Given the description of an element on the screen output the (x, y) to click on. 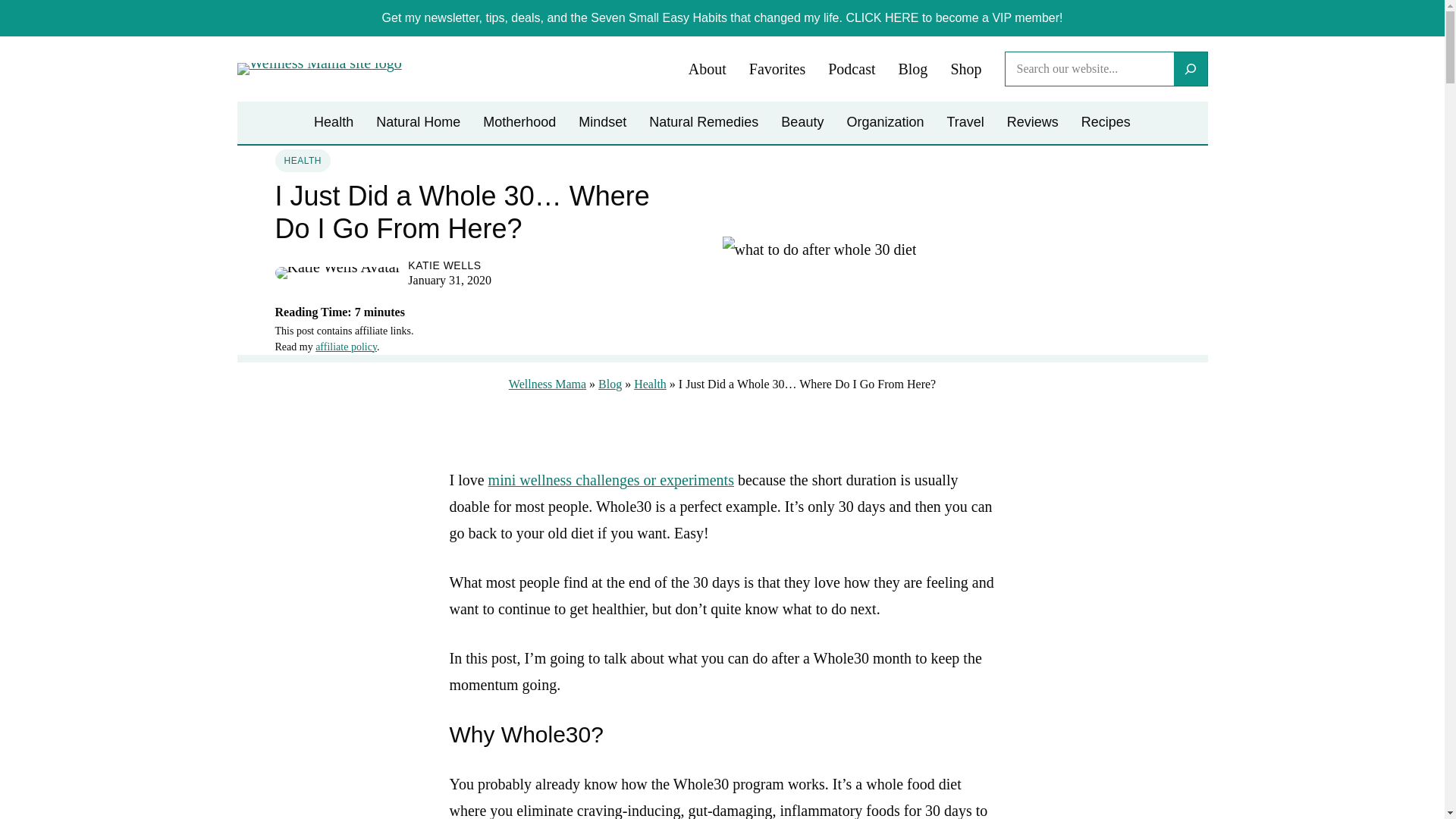
Mindset (602, 122)
About (707, 69)
Podcast (851, 69)
Natural Remedies (703, 122)
Natural Home (417, 122)
Reviews (1032, 122)
Recipes (1106, 122)
Travel (965, 122)
Health (649, 383)
Blog (912, 69)
Health (333, 122)
Shop (965, 69)
Wellness Mama (547, 383)
Blog (609, 383)
affiliate policy (346, 346)
